Given the description of an element on the screen output the (x, y) to click on. 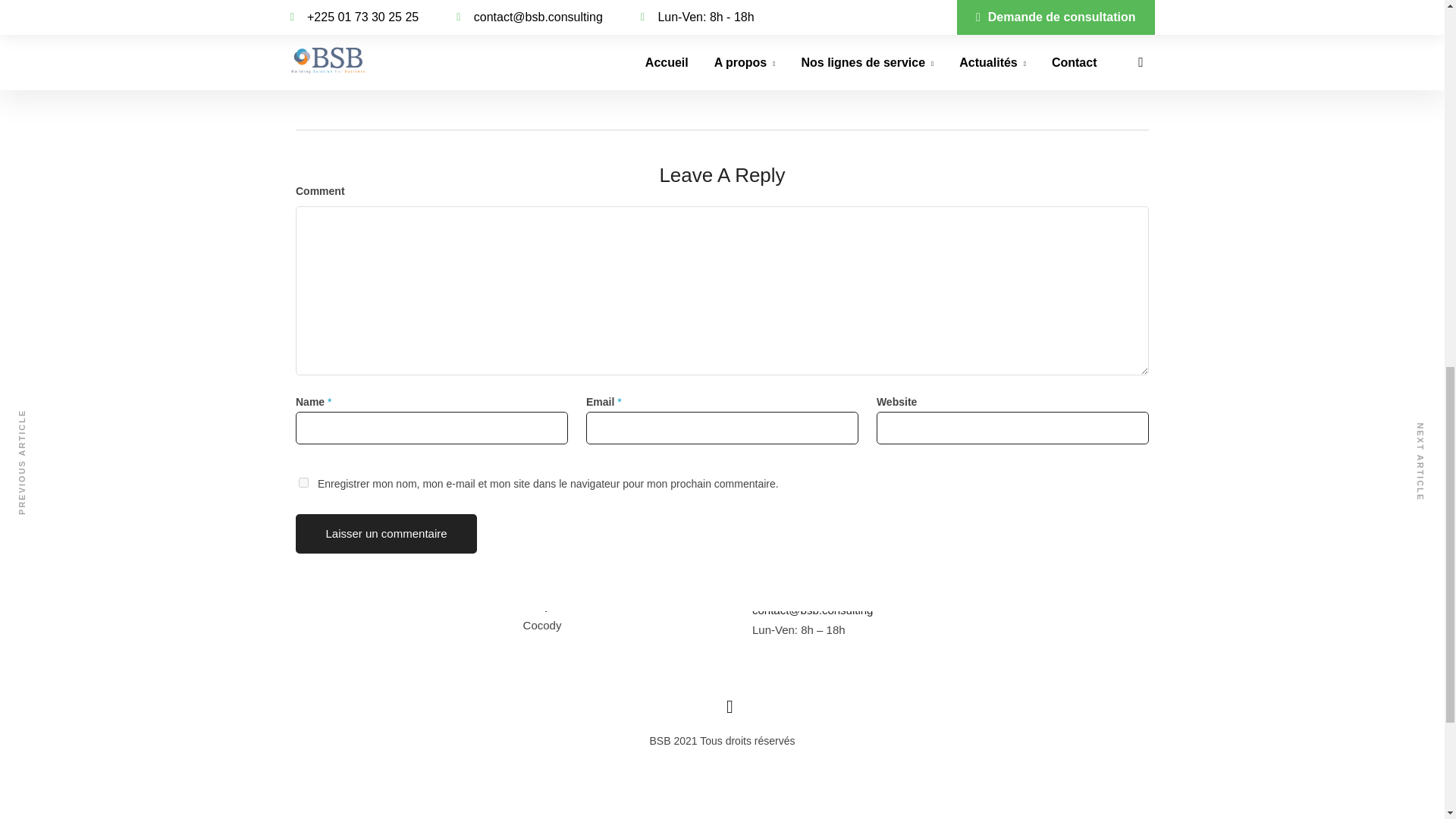
Laisser un commentaire (386, 533)
yes (303, 482)
